Given the description of an element on the screen output the (x, y) to click on. 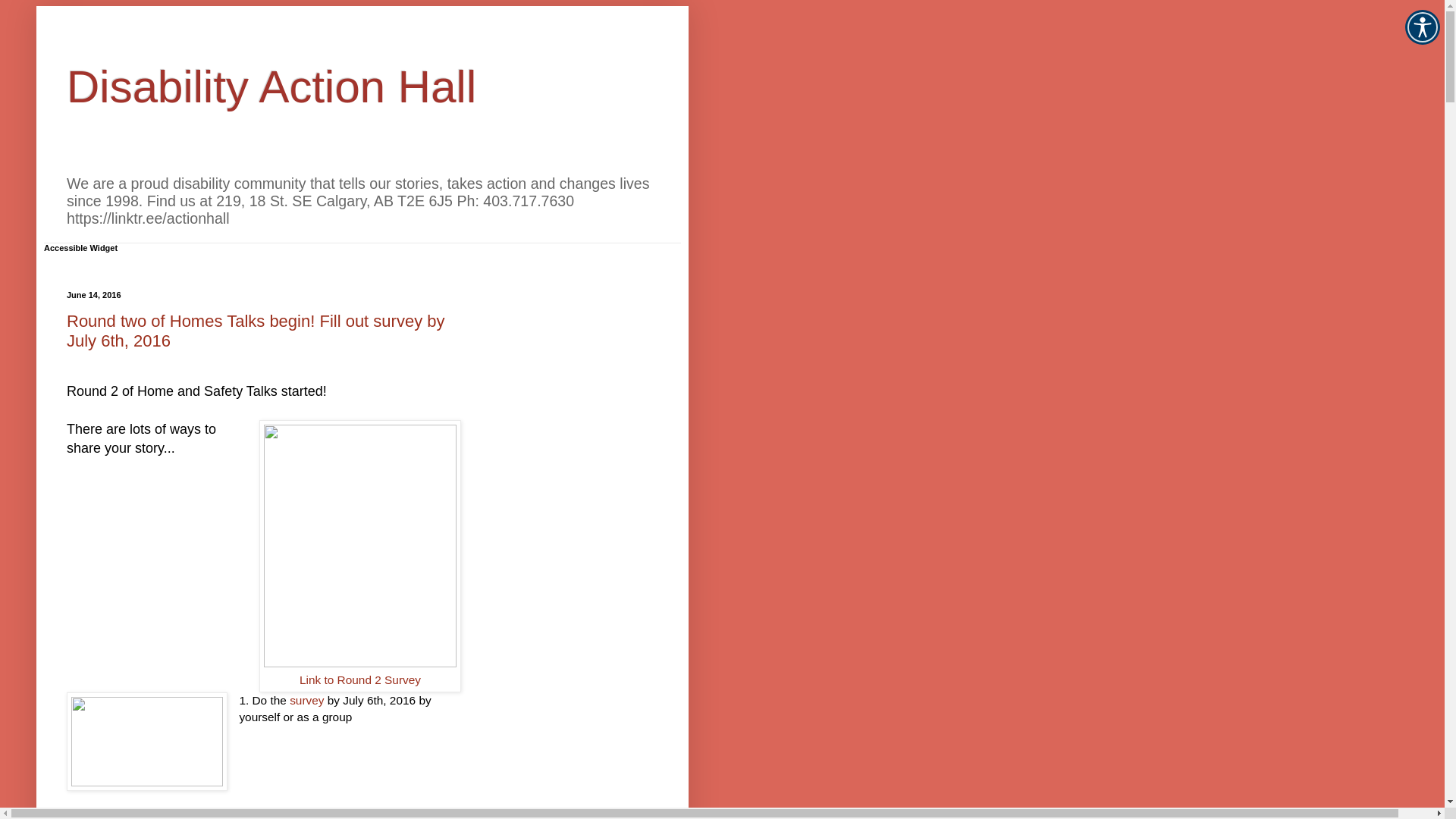
Disability Action Hall Element type: text (271, 86)
survey Element type: text (306, 699)
Link to Round 2 Survey Element type: text (359, 679)
